Given the description of an element on the screen output the (x, y) to click on. 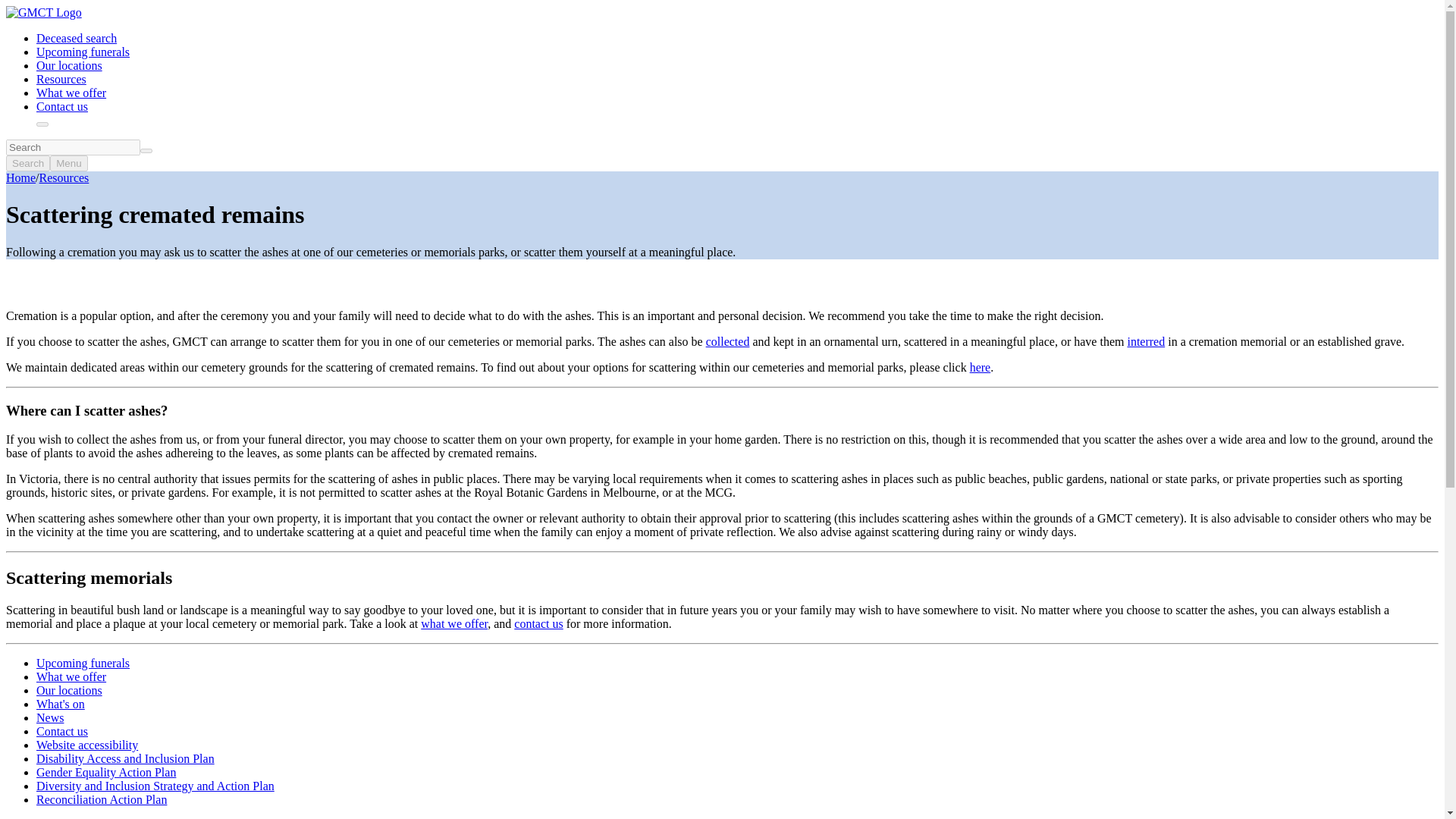
contact us (537, 623)
Menu (68, 163)
What we offer (71, 92)
Home (19, 177)
Upcoming funerals (82, 662)
Resources (60, 78)
Gender Equality Action Plan (106, 771)
Contact us (61, 106)
collected (727, 341)
Diversity and Inclusion Strategy and Action Plan (155, 785)
